Given the description of an element on the screen output the (x, y) to click on. 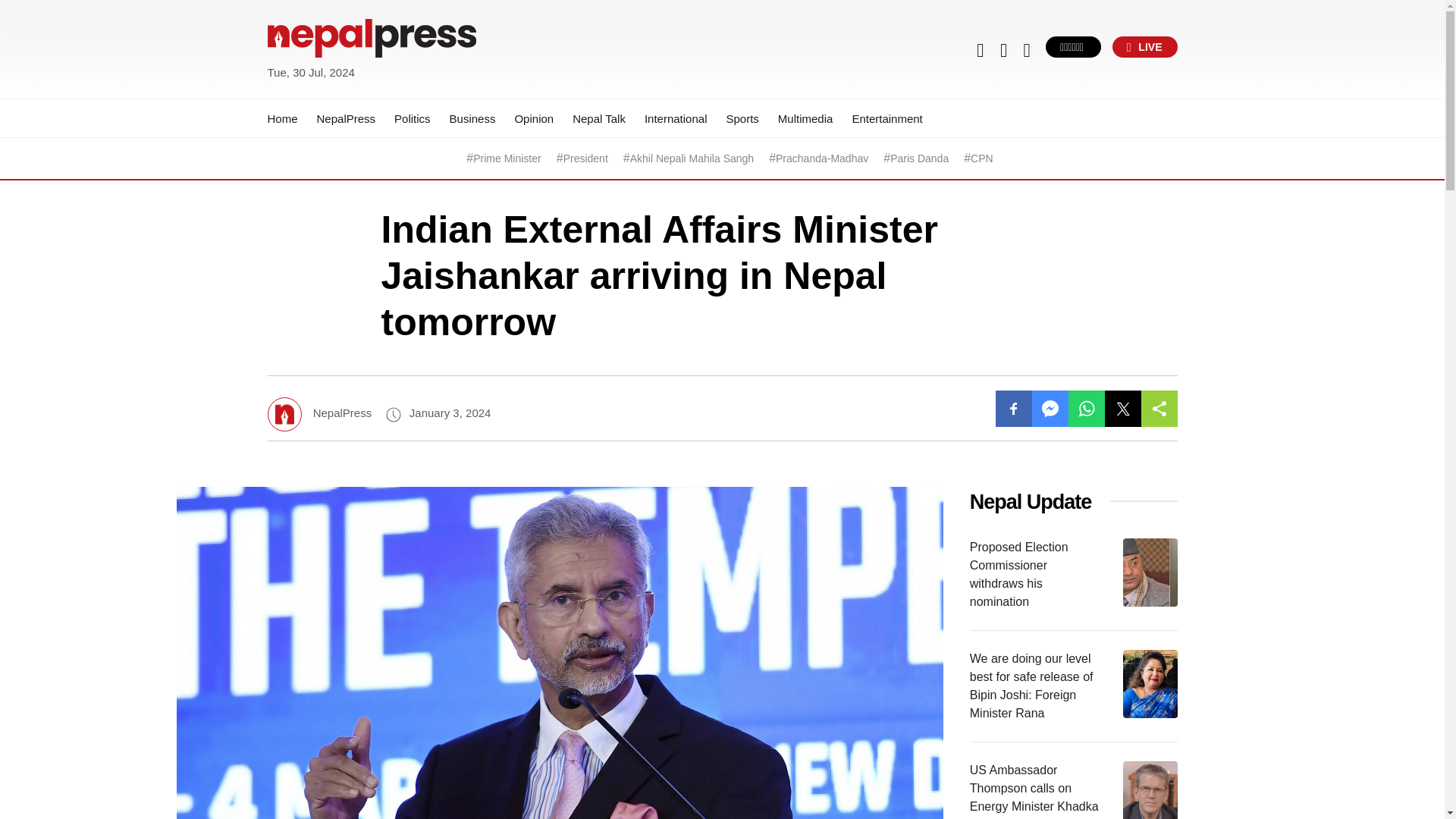
Akhil Nepali Mahila Sangh (692, 158)
Prachanda-Madhav (821, 158)
Prime Minister (506, 158)
Paris Danda (919, 158)
NepalPress (346, 118)
Entertainment (886, 118)
CPN (981, 158)
Nepal Press (303, 91)
President (585, 158)
Opinion (533, 118)
President (585, 158)
International (676, 118)
LIVE (1144, 46)
CPN (981, 158)
Nepal Talk (599, 118)
